Given the description of an element on the screen output the (x, y) to click on. 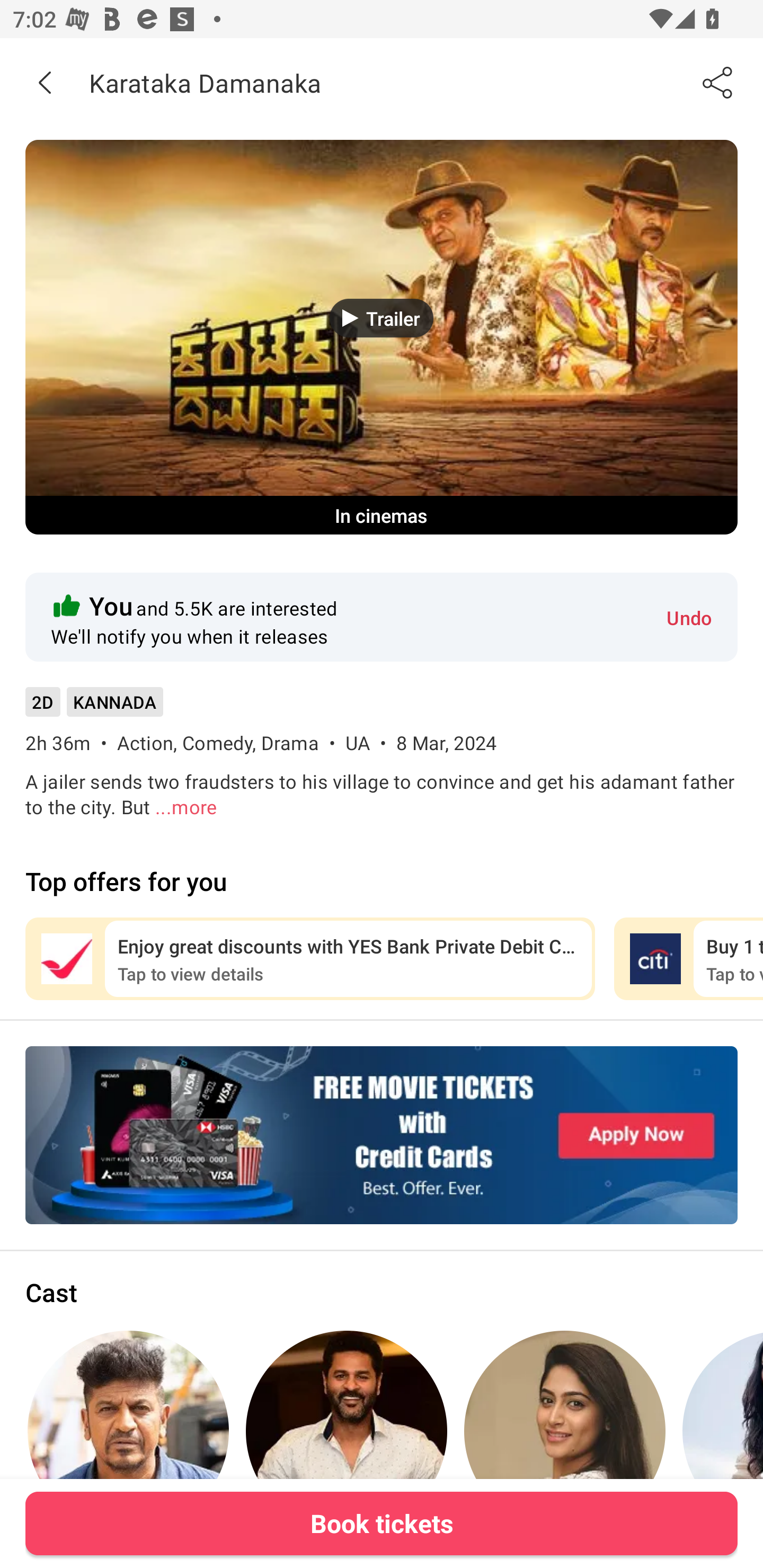
Back (44, 82)
Share (718, 82)
Movie Banner Trailer In cinemas (381, 336)
Trailer (381, 318)
Undo (688, 616)
2D KANNADA (94, 707)
Book tickets (381, 1523)
